Given the description of an element on the screen output the (x, y) to click on. 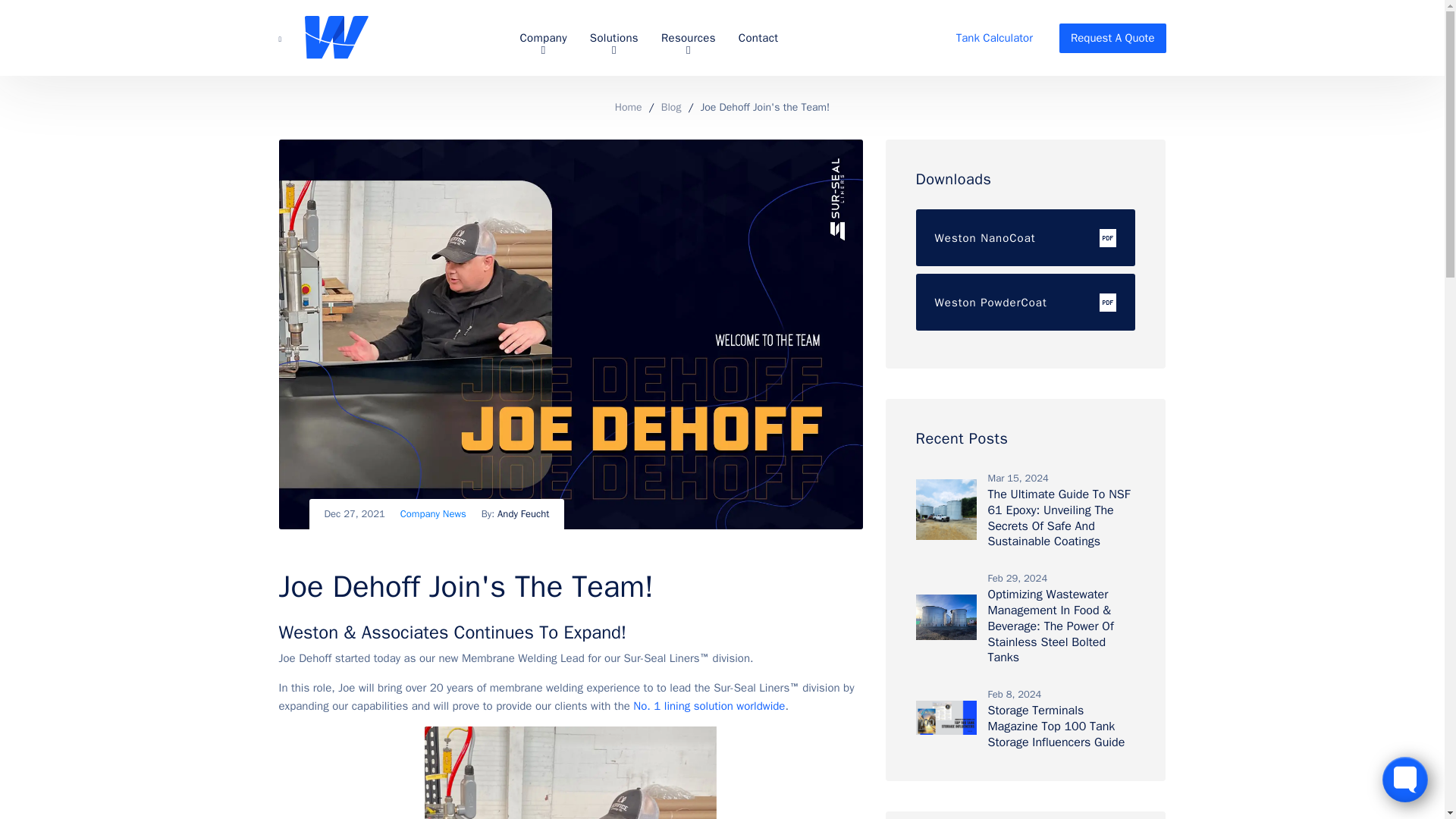
Head to Home Page (336, 37)
Blog (671, 107)
Andy Feucht (522, 513)
Tank Calculator (993, 37)
No. 1 lining solution worldwide (708, 705)
Home (628, 107)
Request A Quote (1112, 37)
Toggle FormButton Popup (1404, 779)
